Given the description of an element on the screen output the (x, y) to click on. 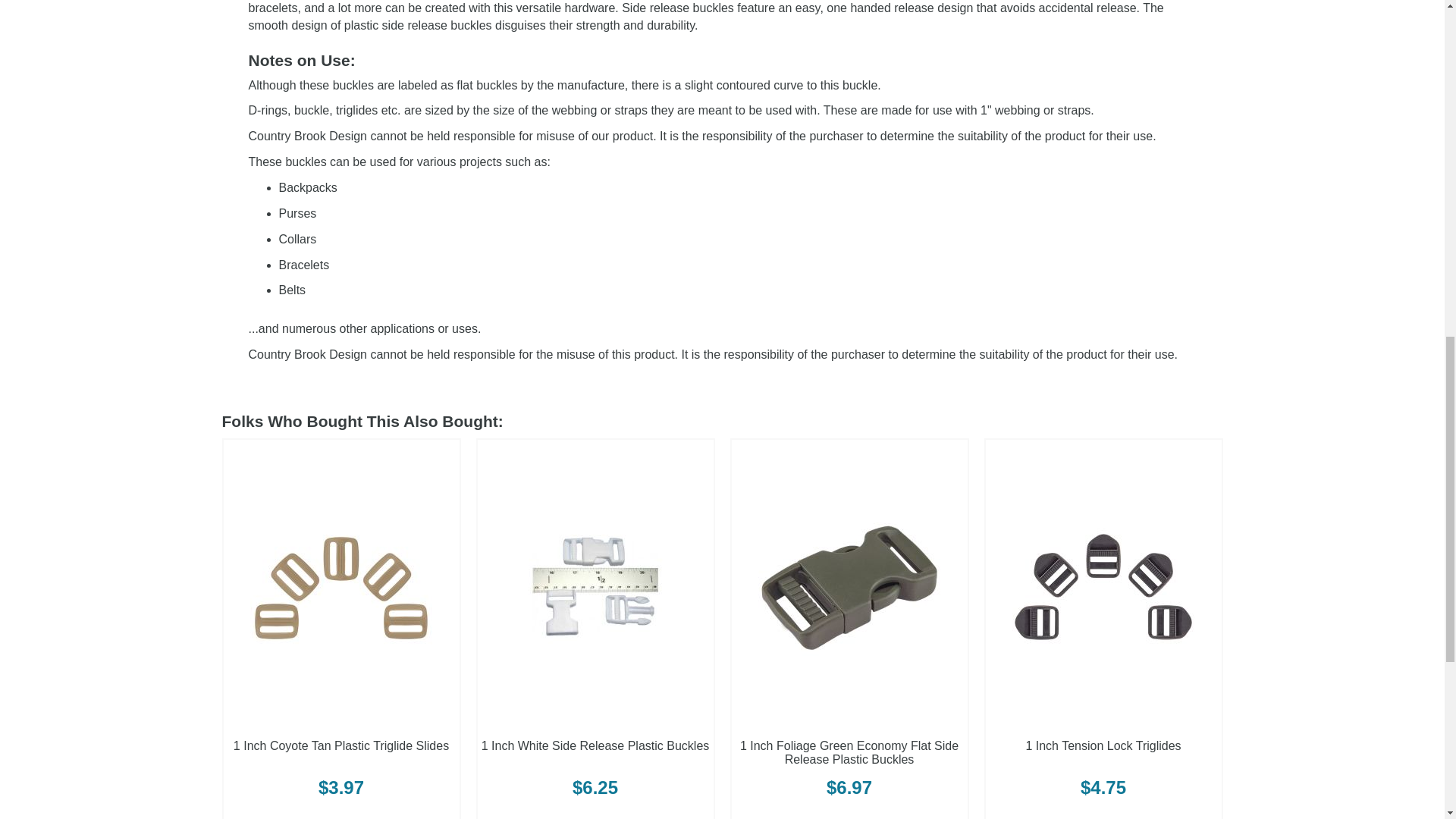
1 Inch Coyote Tan Plastic Triglide Slides (340, 745)
